Given the description of an element on the screen output the (x, y) to click on. 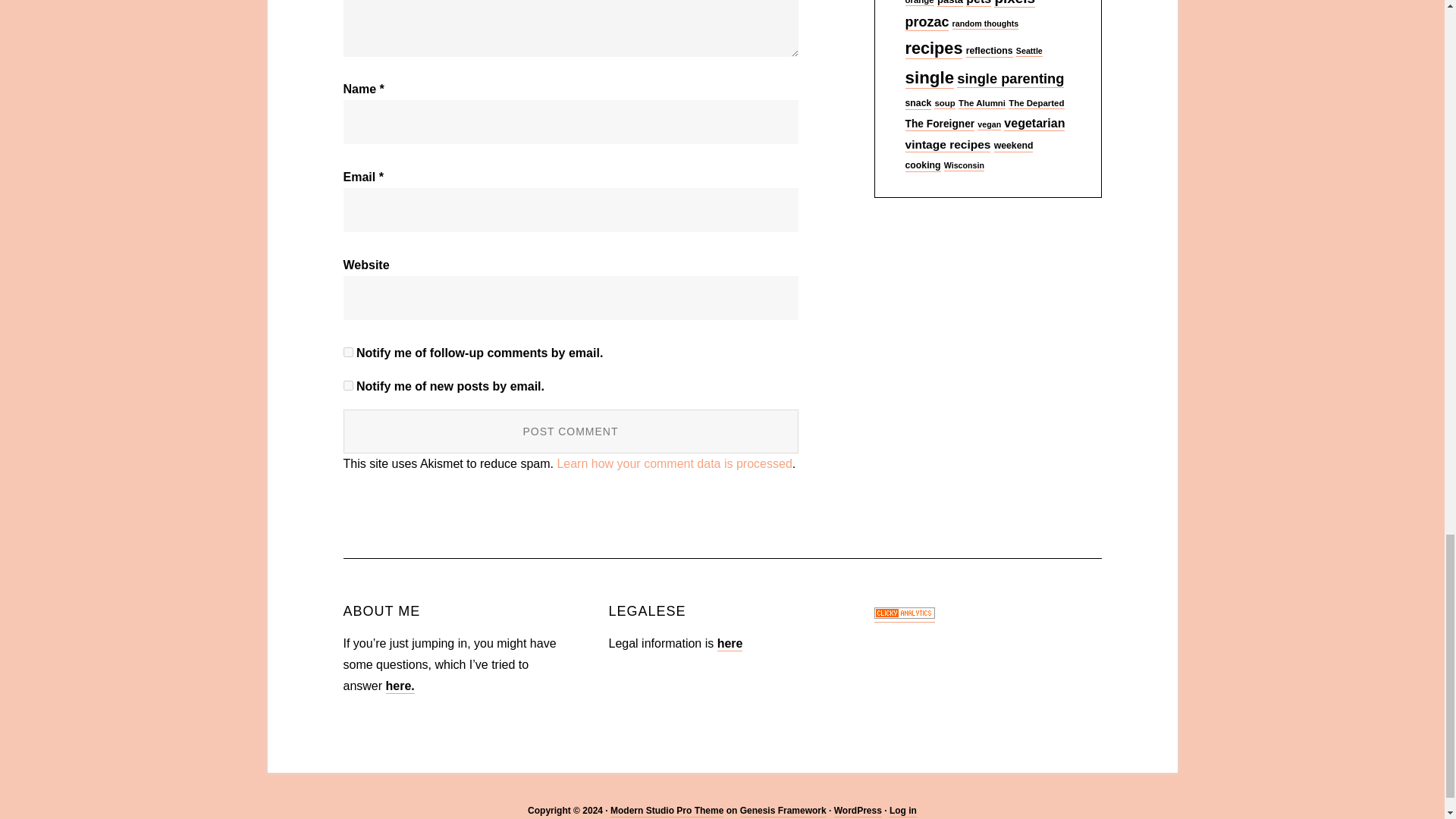
subscribe (347, 352)
Post Comment (569, 431)
Web Analytics (903, 615)
subscribe (347, 385)
Learn how your comment data is processed (674, 463)
Post Comment (569, 431)
